Given the description of an element on the screen output the (x, y) to click on. 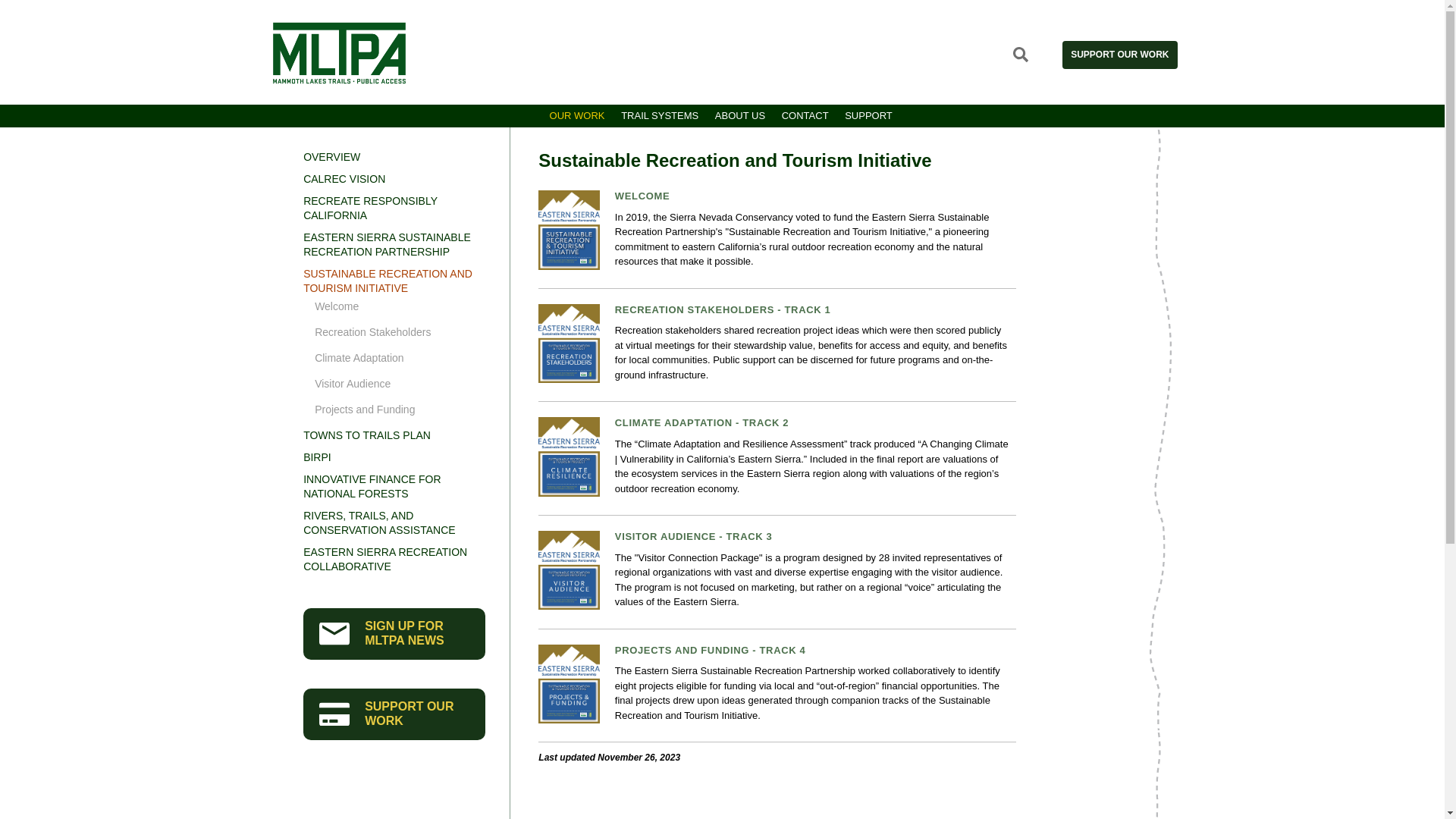
ABOUT US (739, 114)
RECREATION STAKEHOLDERS - TRACK 1 (722, 309)
TRAIL SYSTEMS (659, 114)
SUPPORT OUR WORK (1119, 54)
CLIMATE ADAPTATION - TRACK 2 (701, 422)
SUPPORT (868, 114)
OUR WORK (577, 114)
OPEN SEARCH SITE (1020, 54)
CONTACT (804, 114)
WELCOME (641, 195)
